Given the description of an element on the screen output the (x, y) to click on. 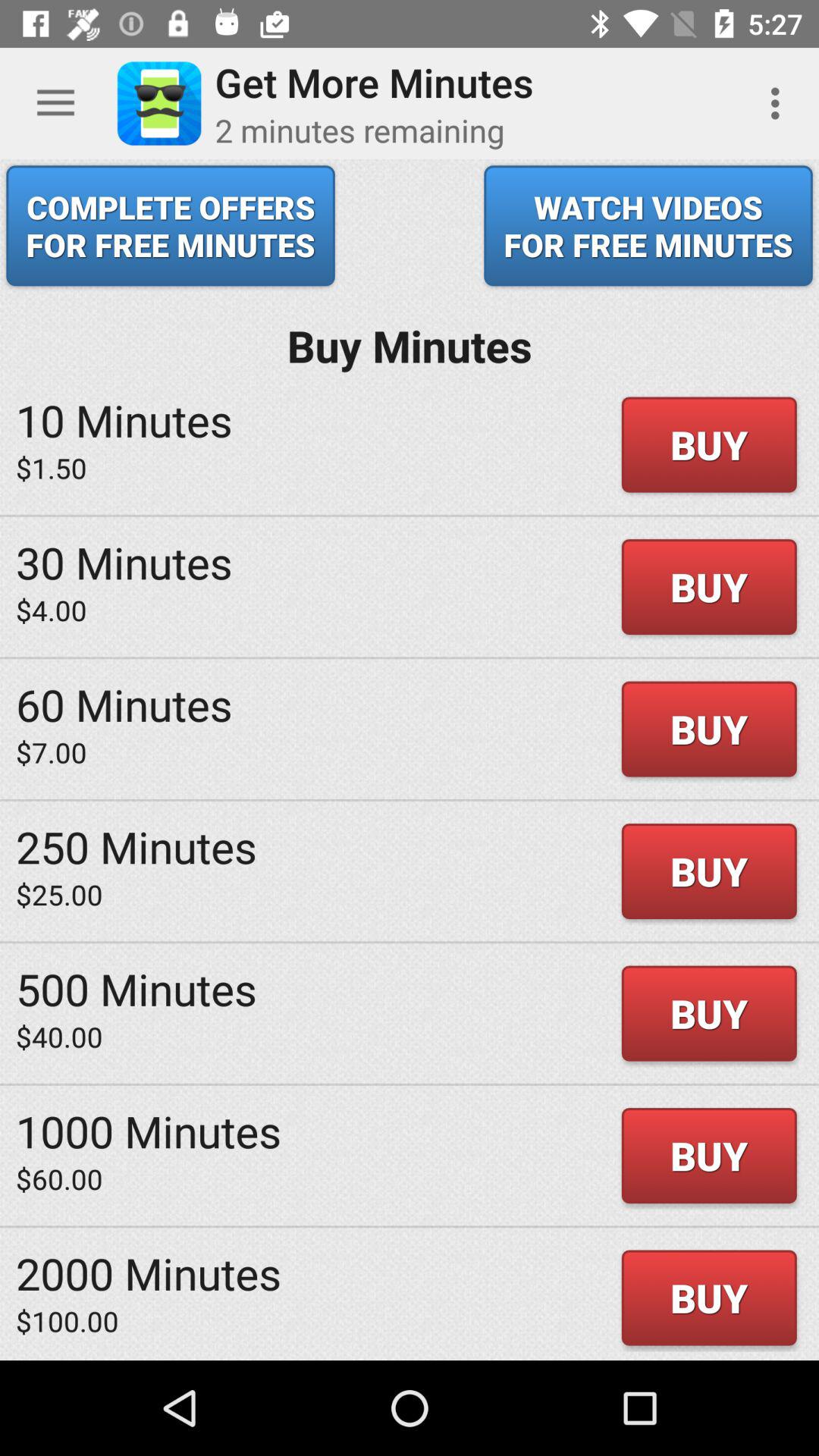
tap the item next to the get more minutes item (779, 103)
